Given the description of an element on the screen output the (x, y) to click on. 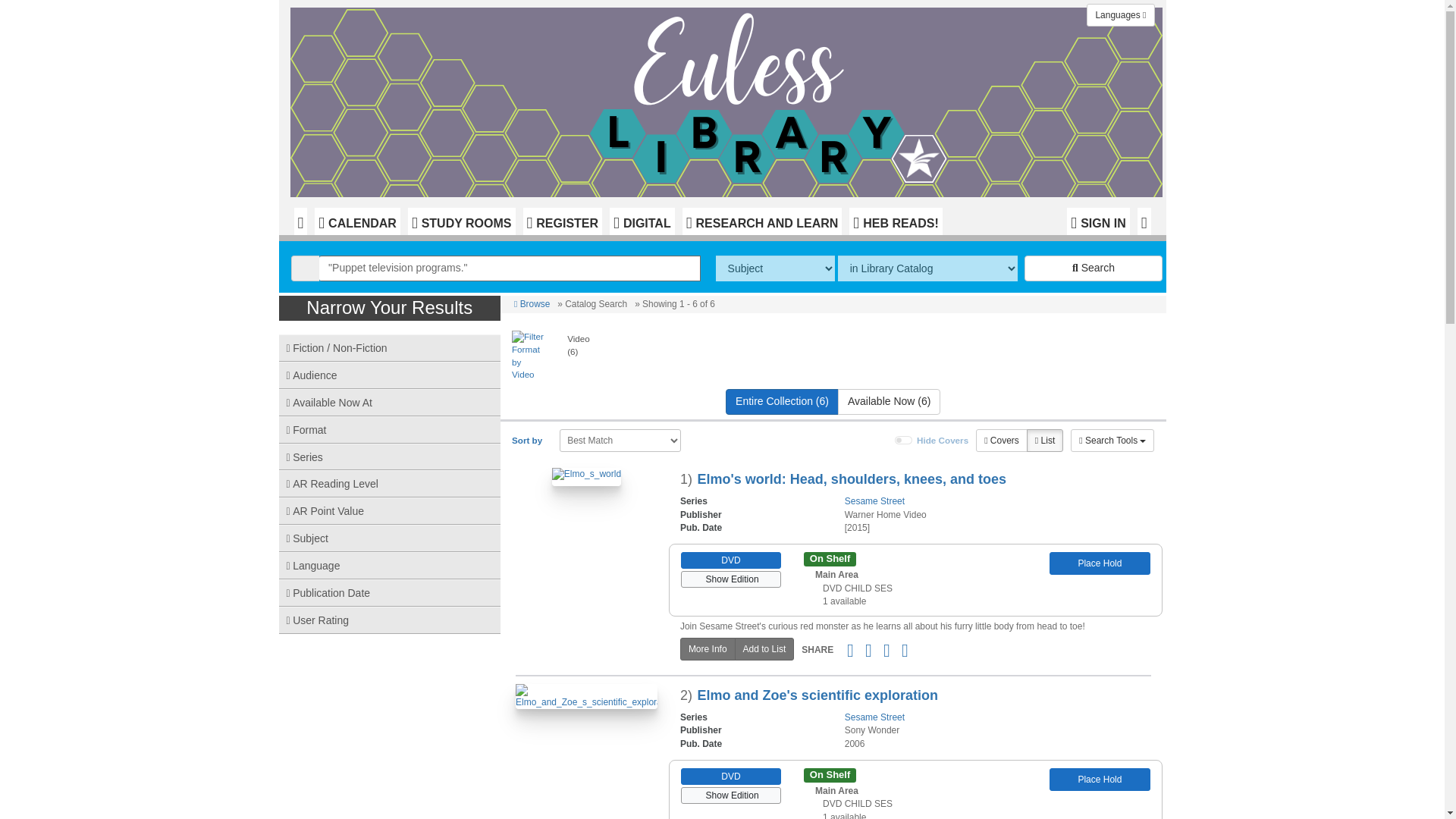
Login (1098, 221)
CALENDAR (357, 221)
RESEARCH AND LEARN (762, 221)
STUDY ROOMS (461, 221)
Languages  (1120, 15)
 Search (1093, 268)
SIGN IN (1098, 221)
"Puppet television programs." (509, 268)
HEB READS! (895, 221)
on (903, 440)
The method of searching. (775, 268)
DIGITAL (642, 221)
REGISTER (562, 221)
